Given the description of an element on the screen output the (x, y) to click on. 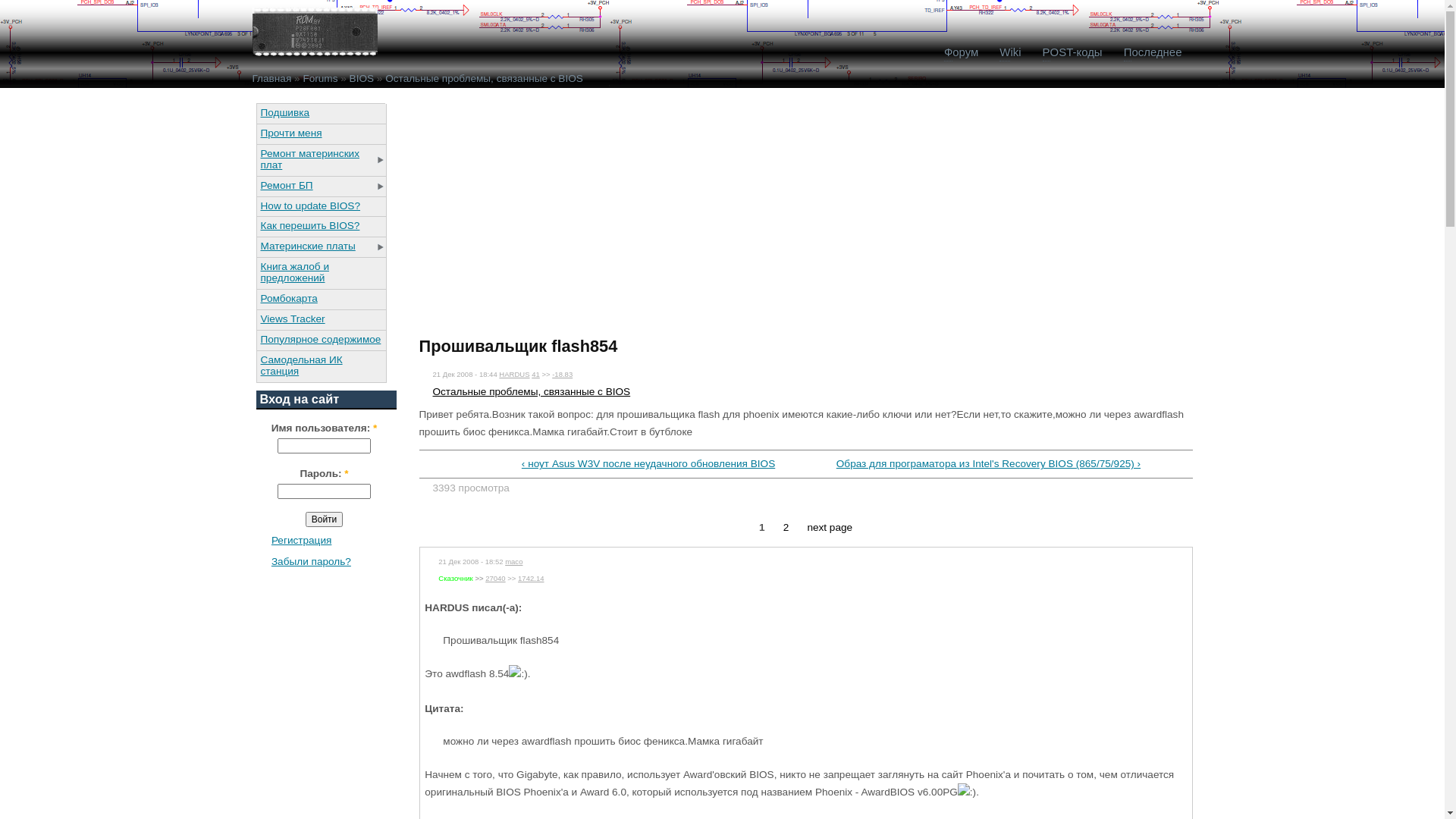
2 Element type: text (786, 527)
Advertisement Element type: hover (545, 209)
How to update BIOS? Element type: text (320, 205)
BIOS Element type: text (361, 78)
41 Element type: text (535, 374)
Forums Element type: text (319, 78)
1742.14 Element type: text (530, 578)
>> Element type: text (478, 578)
Views Tracker Element type: text (320, 318)
-18.83 Element type: text (562, 374)
maco Element type: text (513, 561)
ROM.by Element type: hover (313, 31)
HARDUS Element type: text (513, 374)
27040 Element type: text (495, 578)
Wiki Element type: text (1009, 51)
next page Element type: text (829, 527)
